Given the description of an element on the screen output the (x, y) to click on. 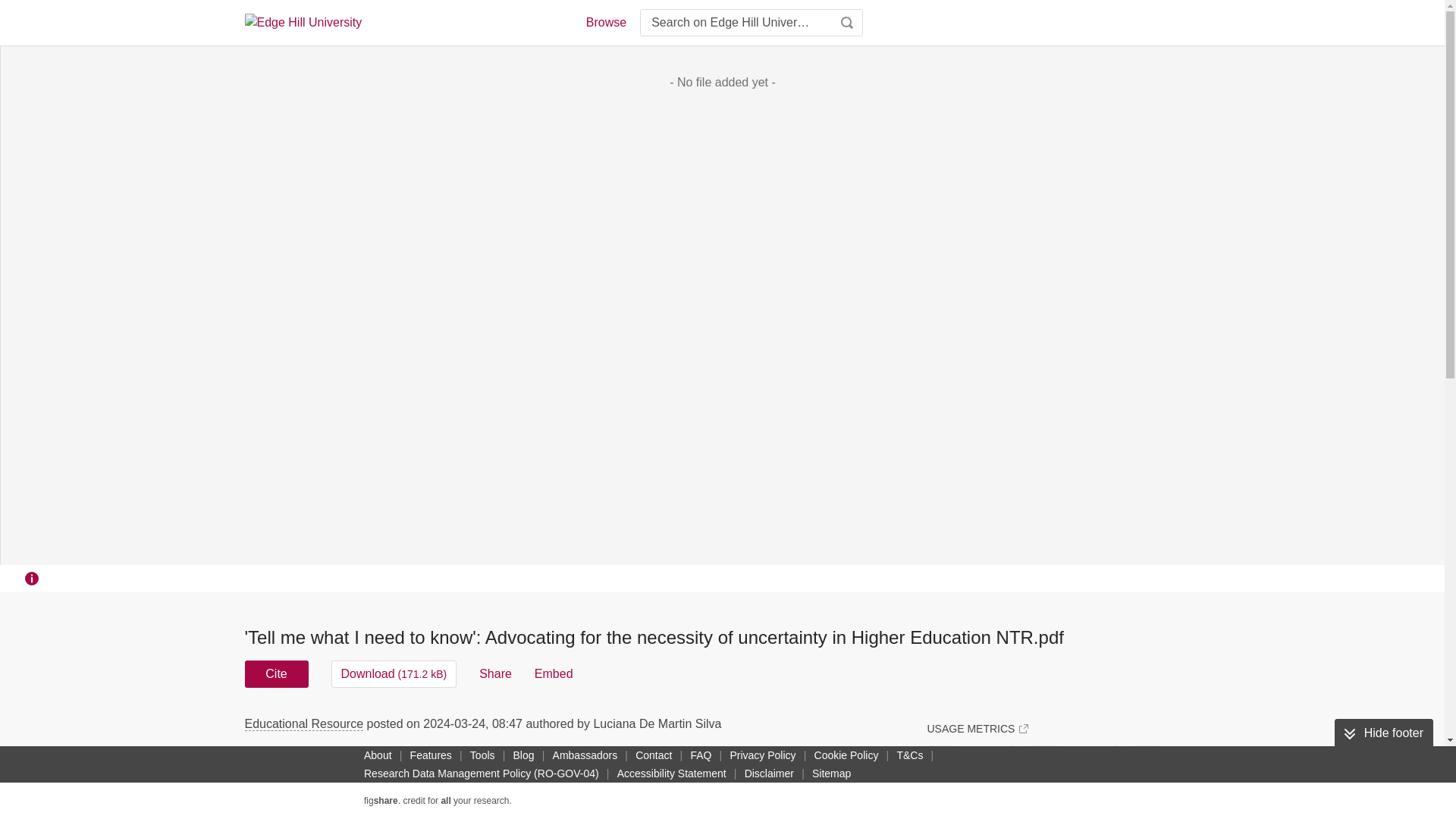
Browse (605, 22)
FAQ (700, 755)
Features (431, 755)
Hide footer (1383, 733)
Contact (653, 755)
Cookie Policy (846, 755)
Ambassadors (585, 755)
Tools (482, 755)
Cite (275, 673)
Privacy Policy (762, 755)
